Given the description of an element on the screen output the (x, y) to click on. 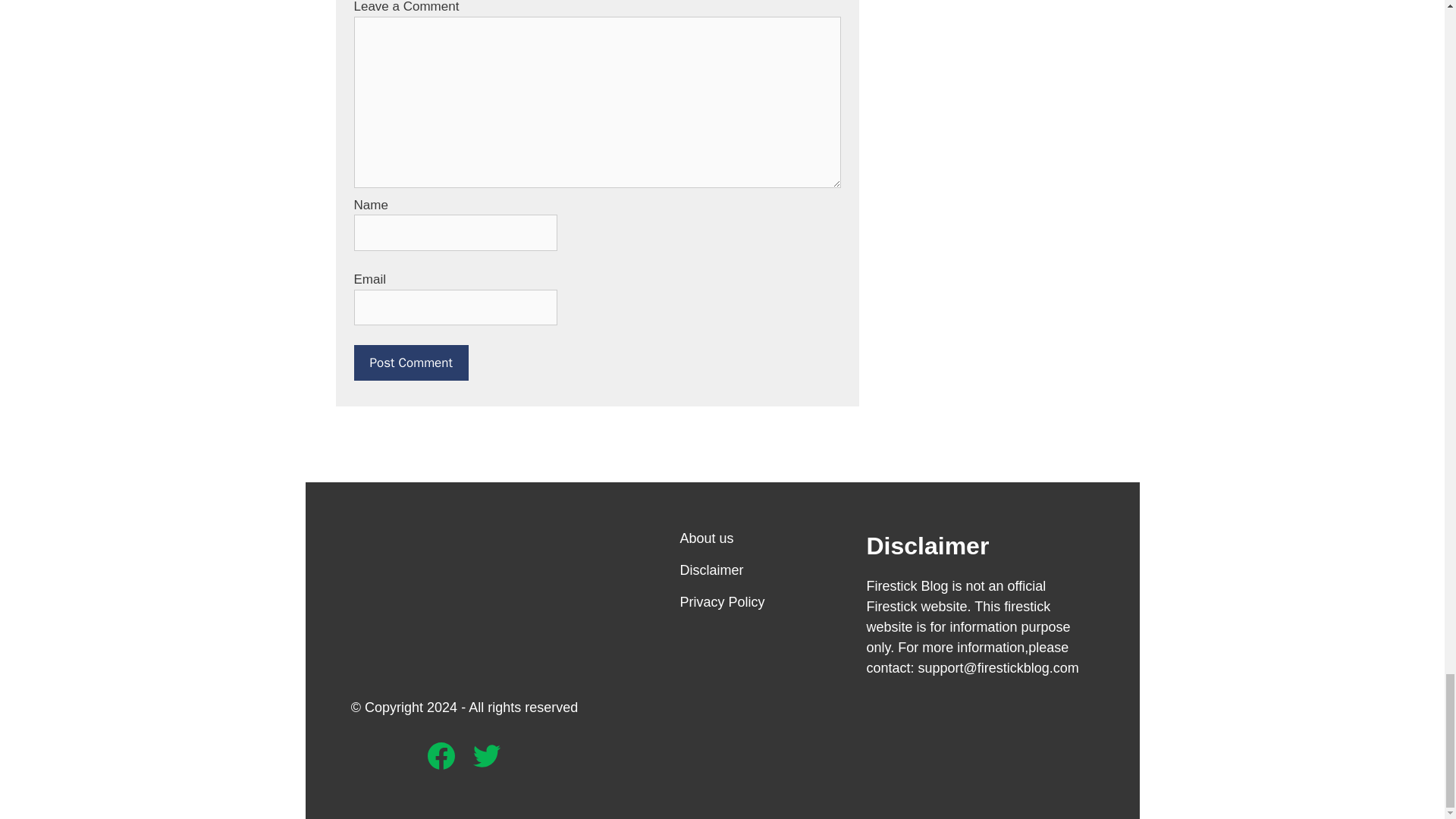
Disclaimer (710, 570)
Post Comment (410, 362)
About us (706, 538)
Post Comment (410, 362)
